Given the description of an element on the screen output the (x, y) to click on. 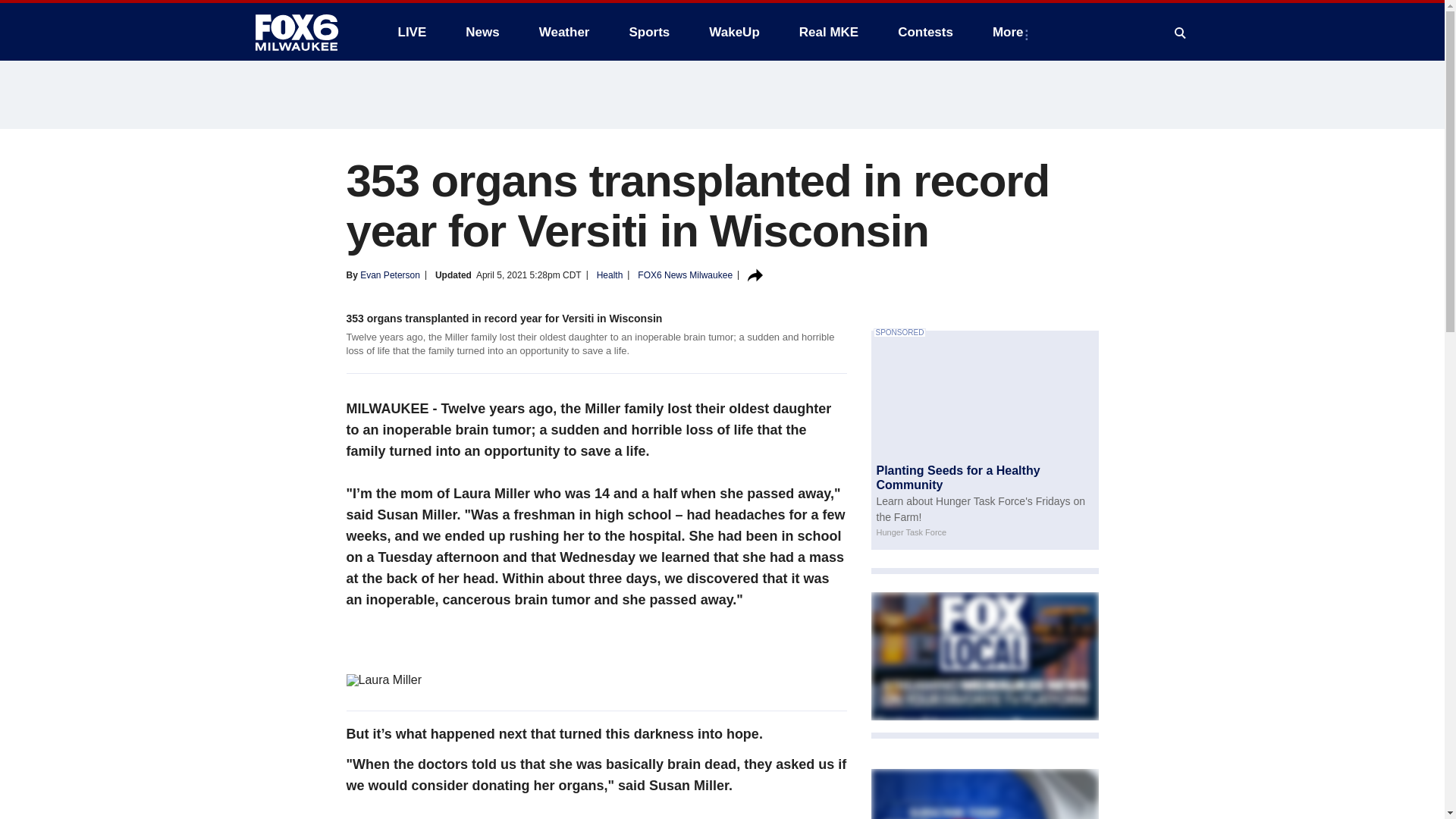
Real MKE (828, 32)
Weather (564, 32)
Contests (925, 32)
Sports (648, 32)
News (481, 32)
LIVE (411, 32)
WakeUp (734, 32)
More (1010, 32)
